Given the description of an element on the screen output the (x, y) to click on. 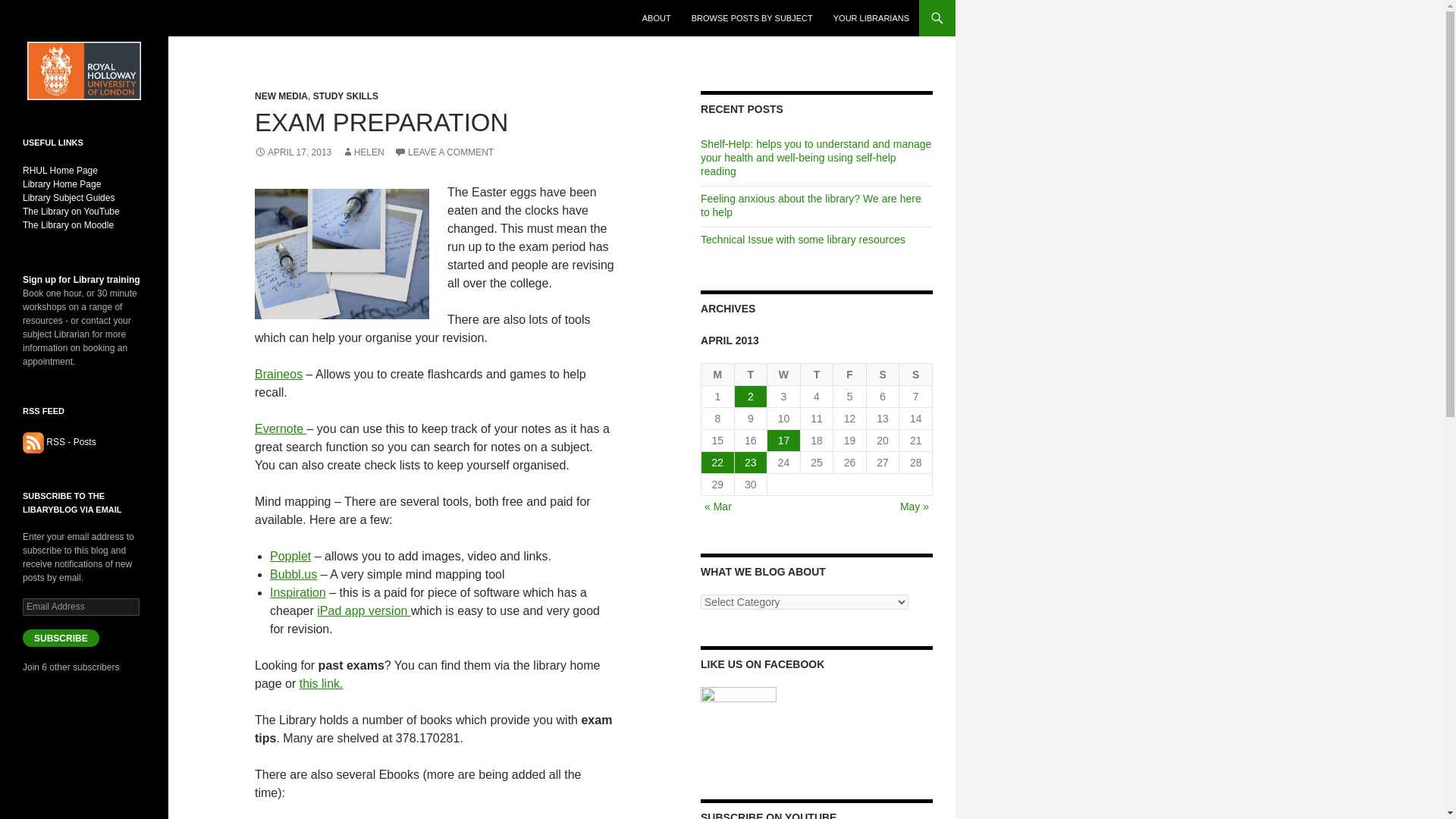
Evernote (279, 428)
Bubbl.us (293, 574)
iPad app version (363, 610)
Popplet (290, 555)
this link. (321, 683)
Bubbl.us (293, 574)
BROWSE POSTS BY SUBJECT (752, 18)
iPad (363, 610)
APRIL 17, 2013 (292, 152)
Popplet (290, 555)
Pas Exams (321, 683)
HELEN (363, 152)
Braineos (278, 373)
YOUR LIBRARIANS (871, 18)
ABOUT (656, 18)
